Given the description of an element on the screen output the (x, y) to click on. 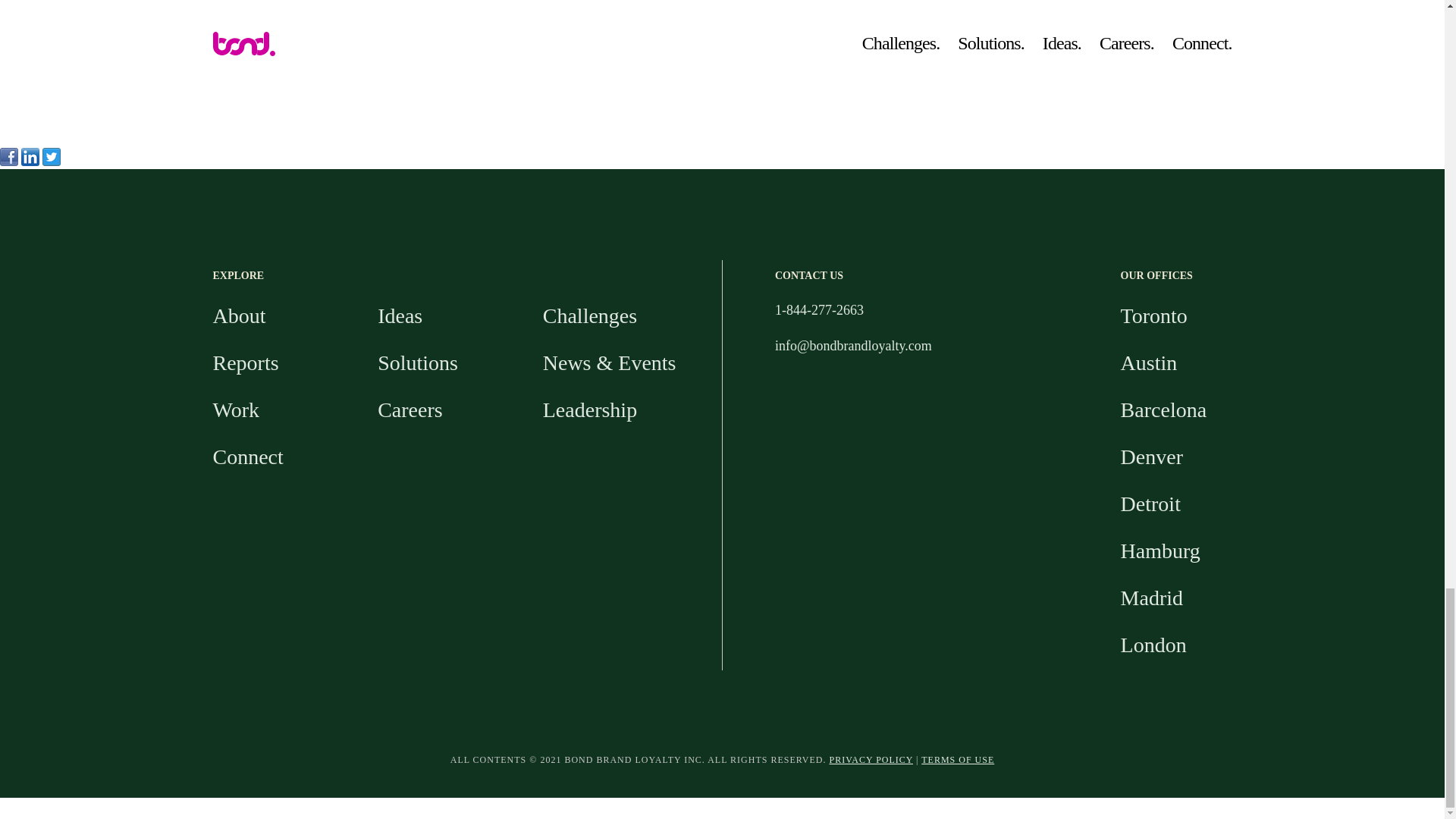
Toronto (1154, 315)
Madrid (1151, 597)
Work (235, 409)
TERMS OF USE (957, 759)
Connect (247, 456)
About (238, 315)
Solutions (417, 362)
Hamburg (1160, 550)
Detroit (1150, 503)
Barcelona (1164, 409)
Denver (1151, 456)
Ideas (399, 315)
London (1153, 644)
1-844-277-2663 (818, 309)
Austin (1149, 362)
